Given the description of an element on the screen output the (x, y) to click on. 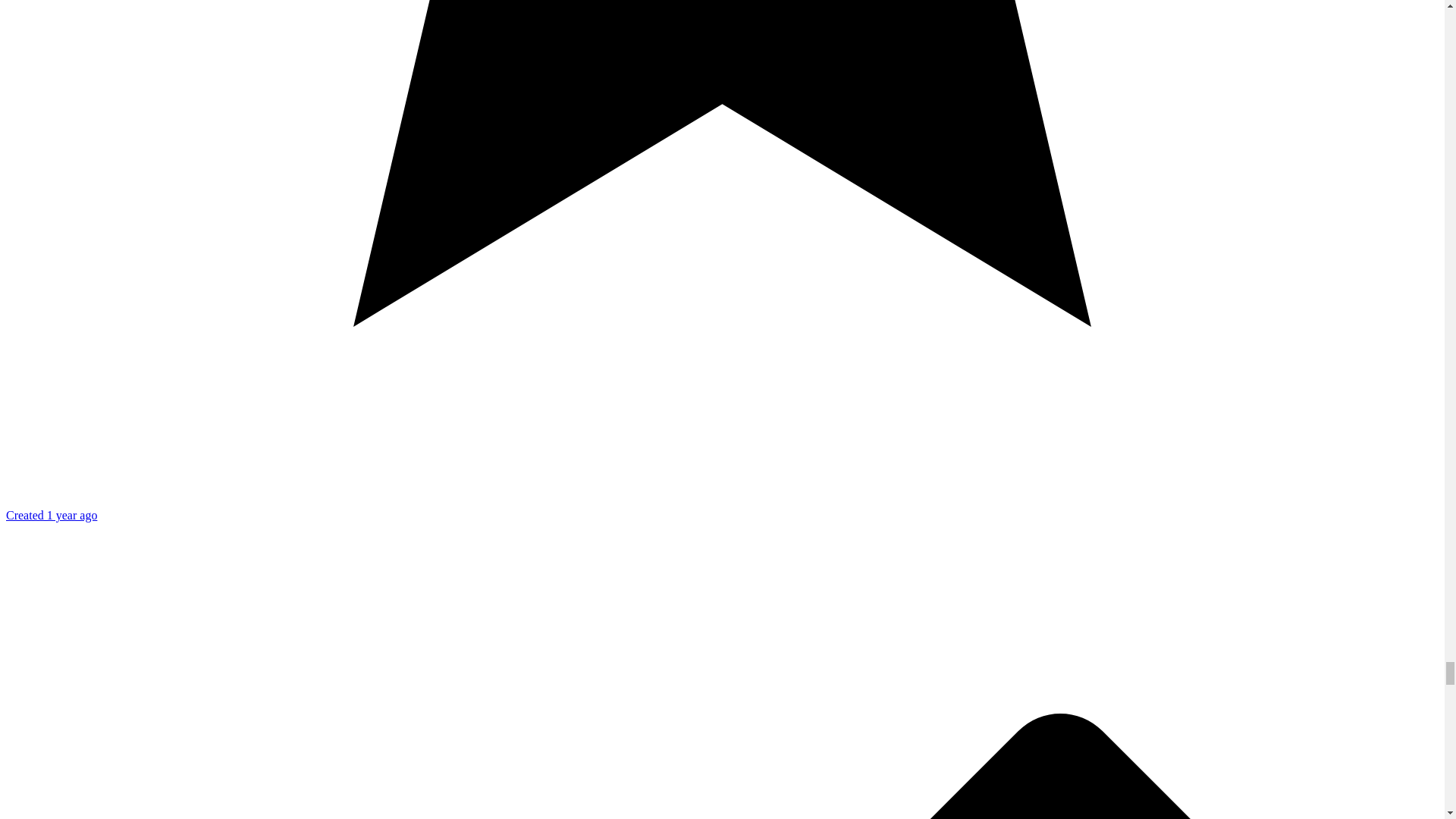
Sun, Nov 13, 2022 1:57 PM (51, 514)
